Given the description of an element on the screen output the (x, y) to click on. 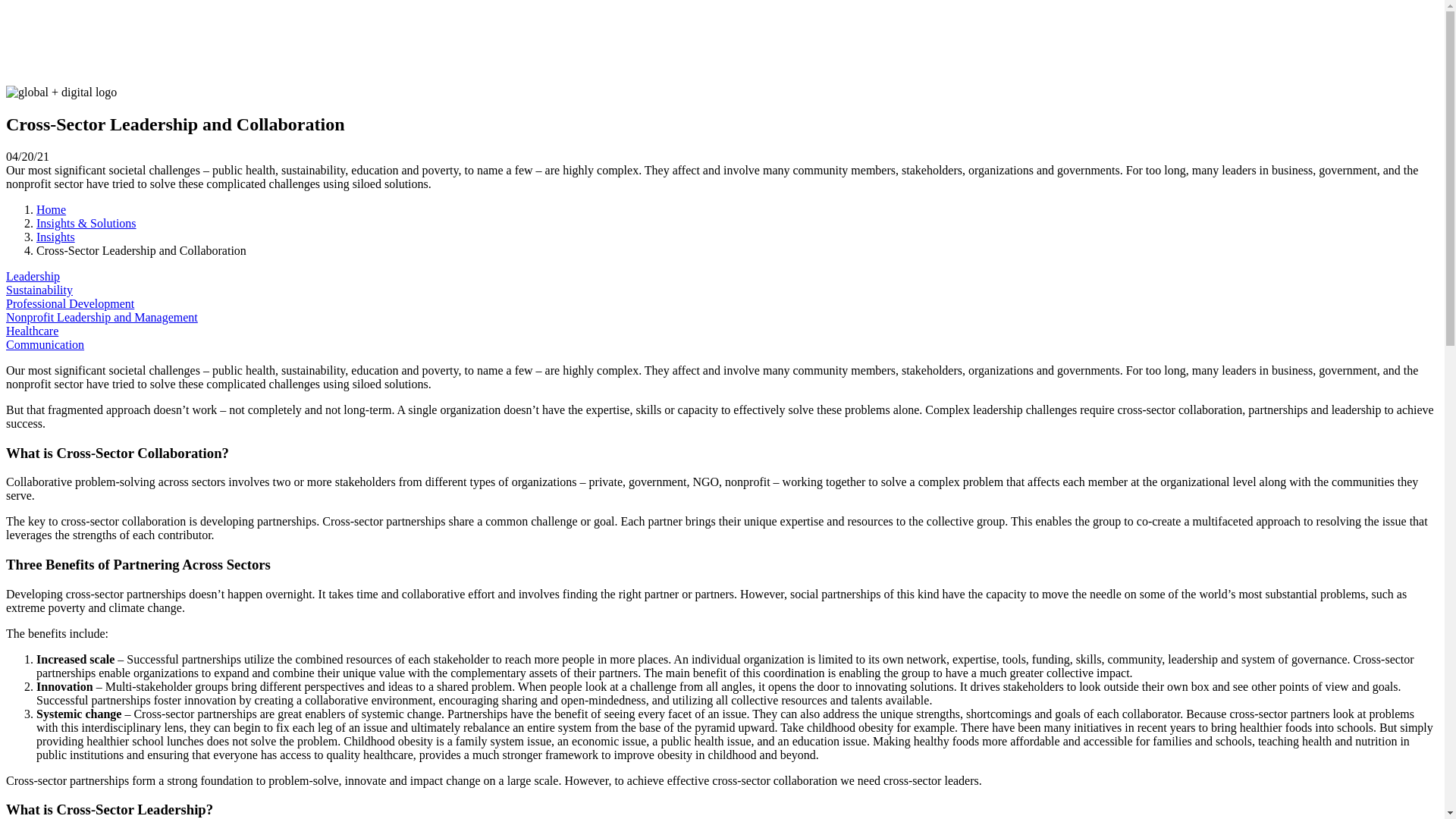
Home (50, 209)
Professional Development (69, 303)
Leadership (32, 276)
Nonprofit Leadership and Management (101, 317)
Communication (44, 344)
Sustainability (38, 289)
Healthcare (31, 330)
Insights (55, 236)
